Given the description of an element on the screen output the (x, y) to click on. 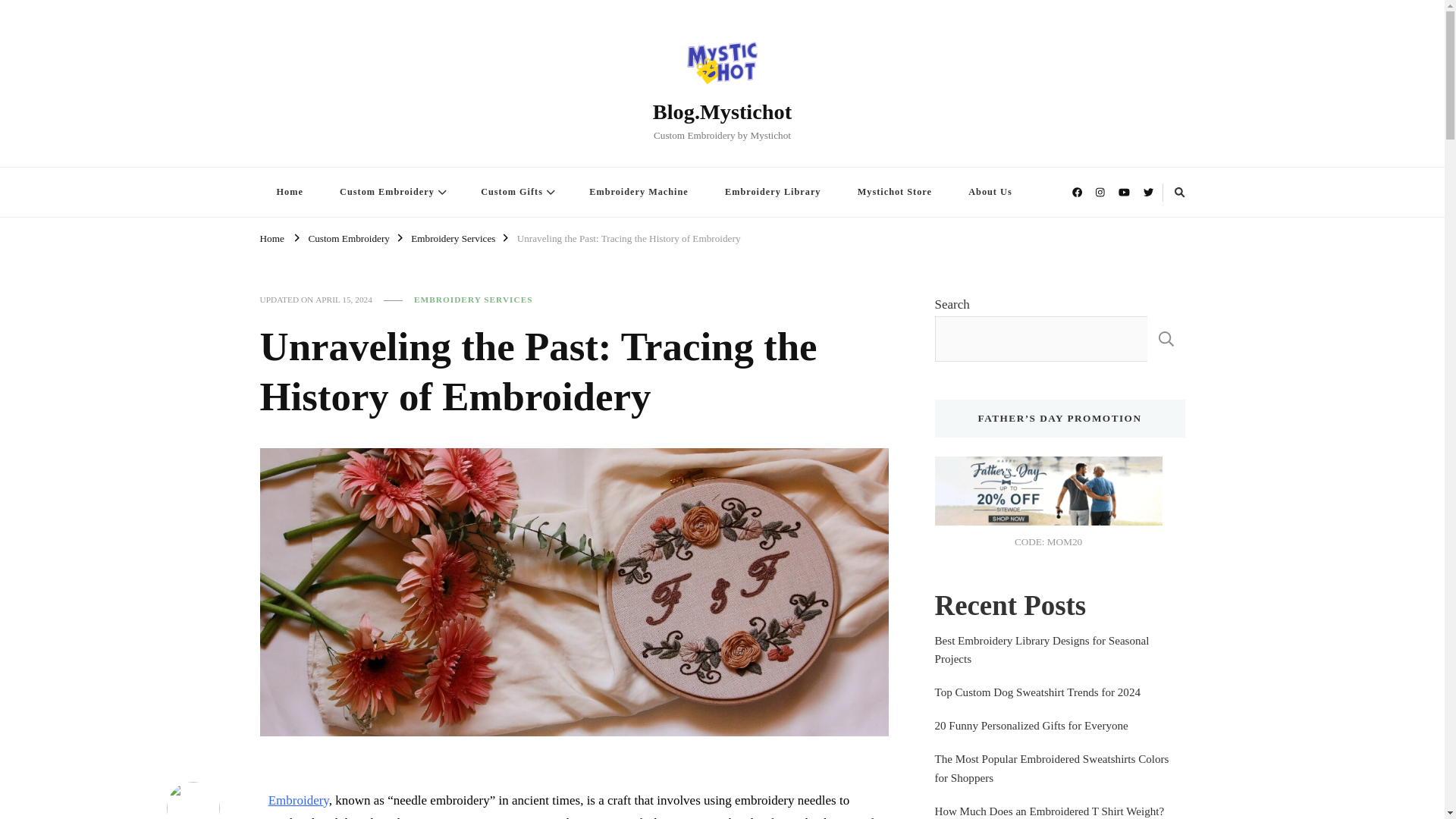
Embroidery Library (772, 192)
About Us (989, 192)
Custom Embroidery (392, 192)
Embroider (295, 800)
Mystichot Store (895, 192)
Blog.Mystichot (722, 111)
Embroidery Machine (638, 192)
Custom Embroidery (348, 236)
Home (271, 236)
Home (288, 192)
